Given the description of an element on the screen output the (x, y) to click on. 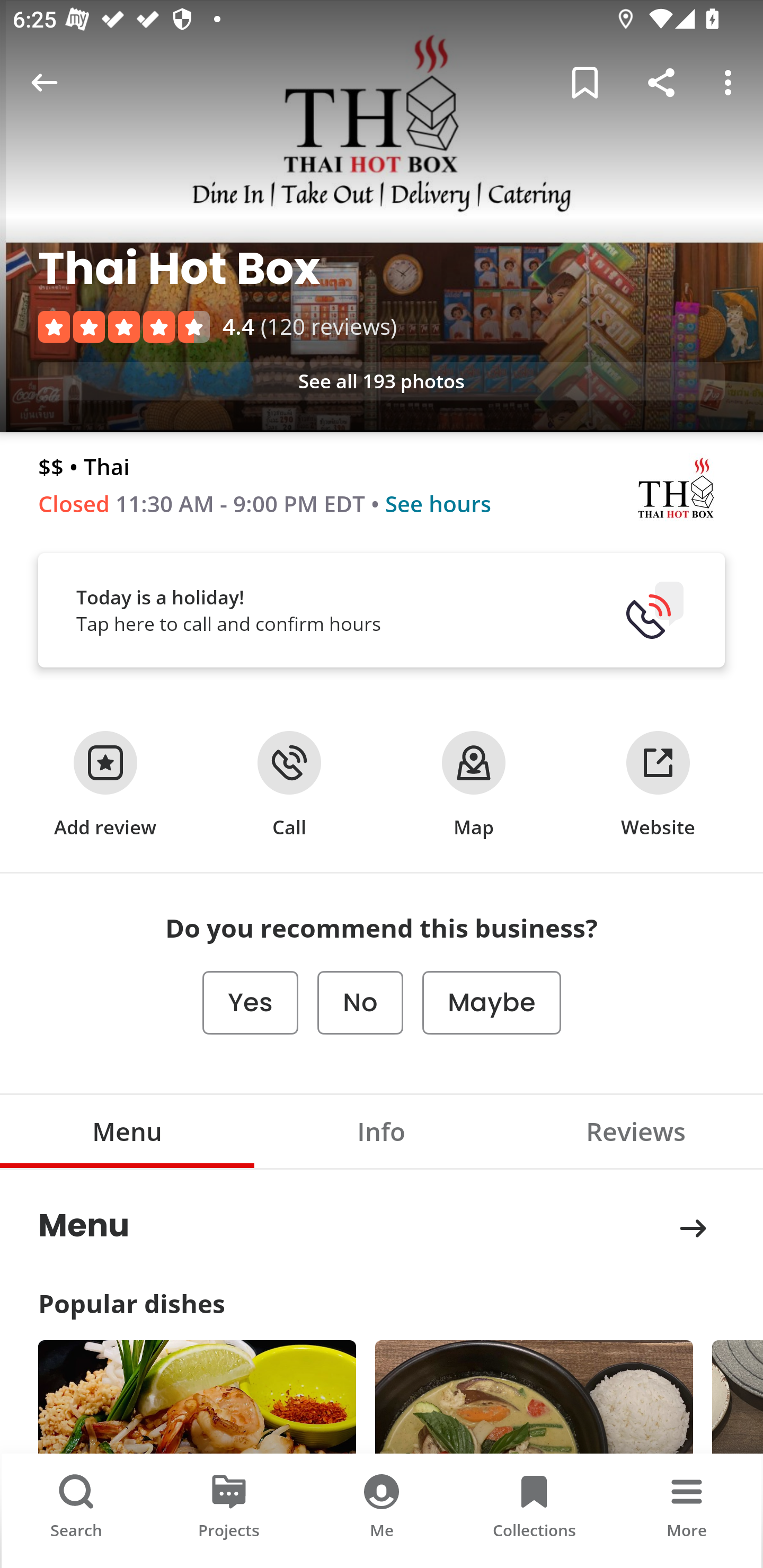
Info (381, 1130)
